Given the description of an element on the screen output the (x, y) to click on. 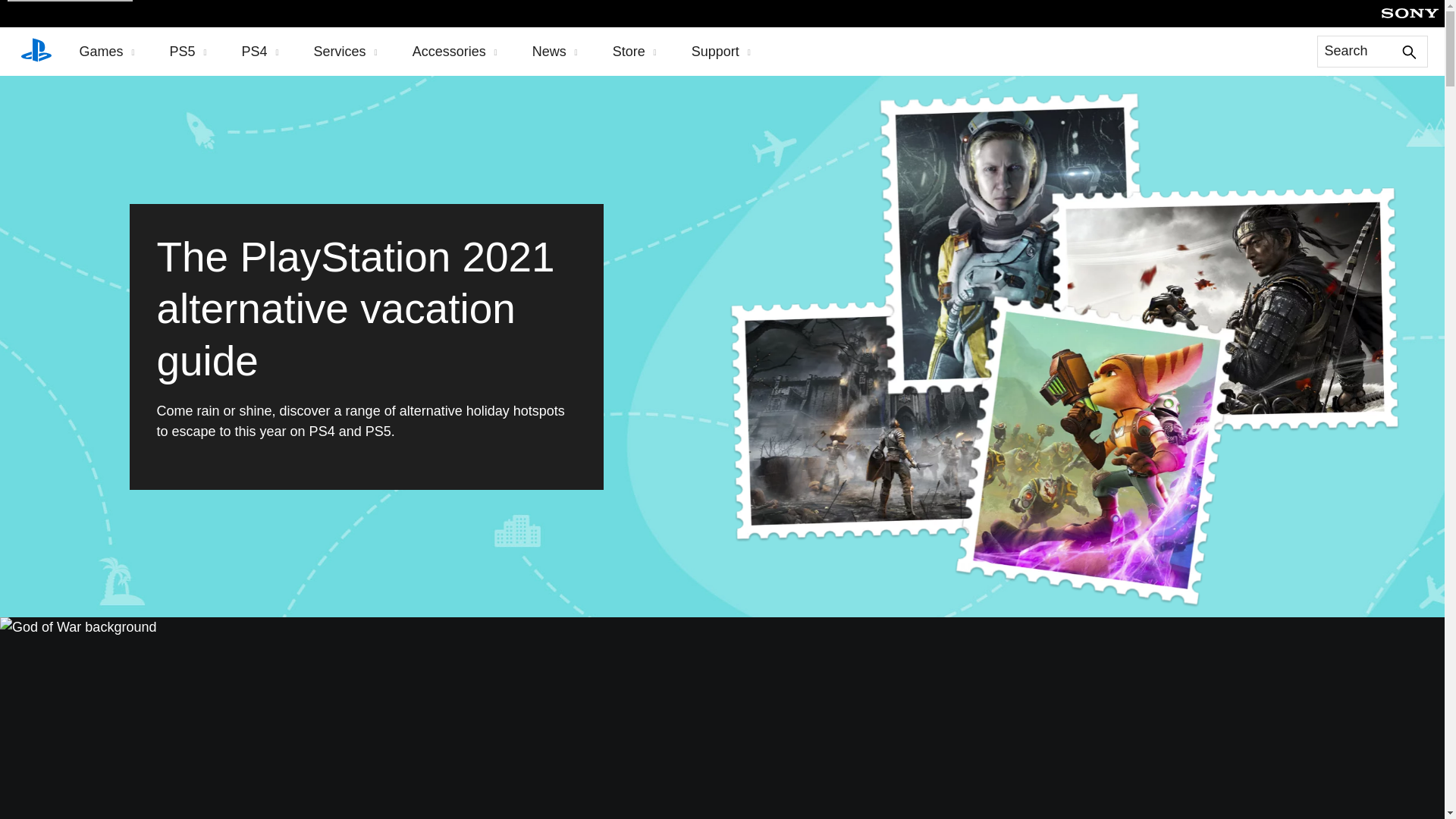
PS4 (260, 51)
Skip to main content (69, 0)
Games (106, 51)
PS5 (188, 51)
Services (345, 51)
Accessories (454, 51)
